Given the description of an element on the screen output the (x, y) to click on. 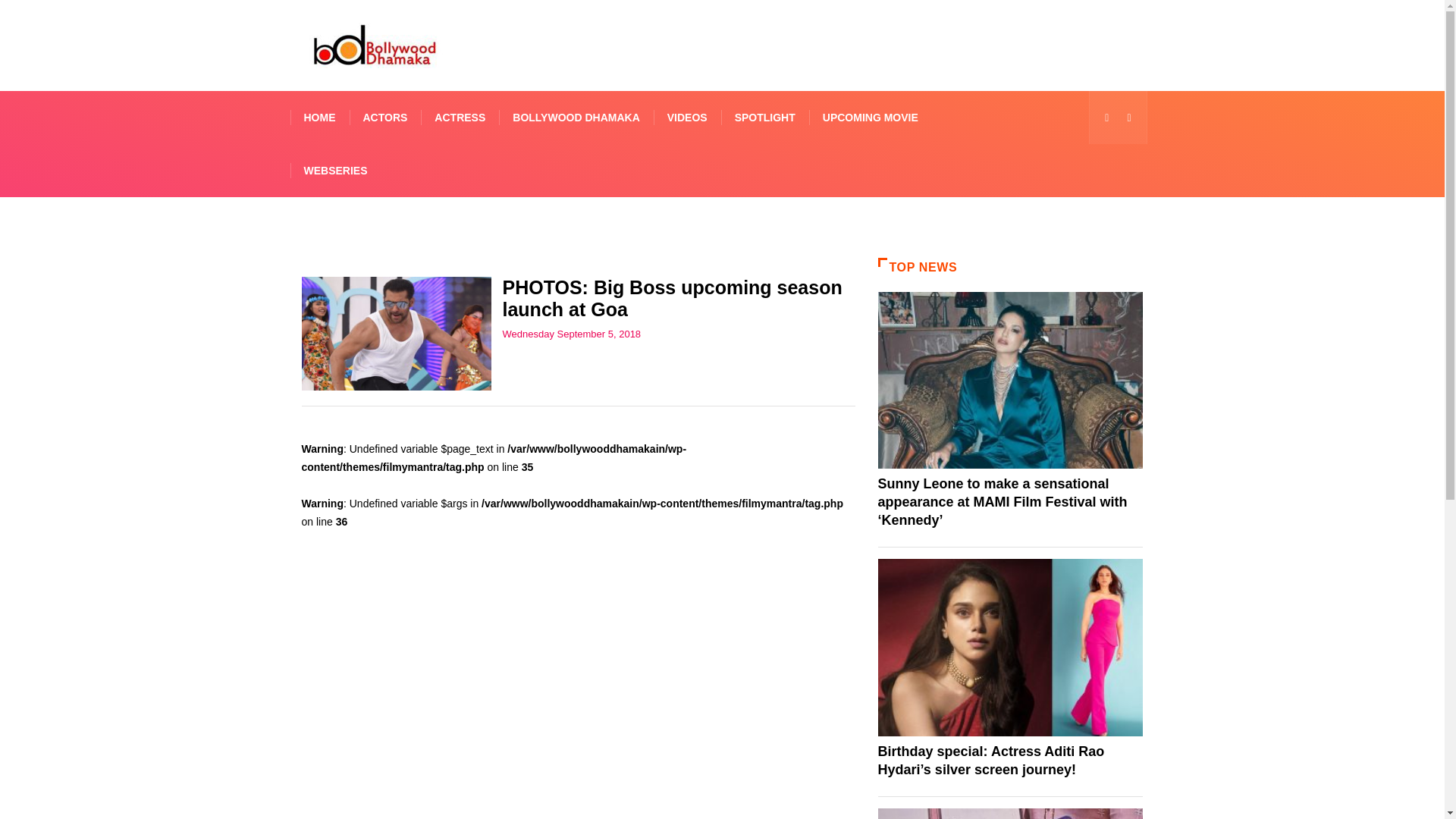
PHOTOS: Big Boss upcoming season launch at Goa (671, 298)
BOLLYWOOD DHAMAKA (575, 117)
HOME (319, 117)
VIDEOS (686, 117)
SPOTLIGHT (764, 117)
WEBSERIES (334, 170)
ACTORS (384, 117)
ACTRESS (459, 117)
UPCOMING MOVIE (870, 117)
